Given the description of an element on the screen output the (x, y) to click on. 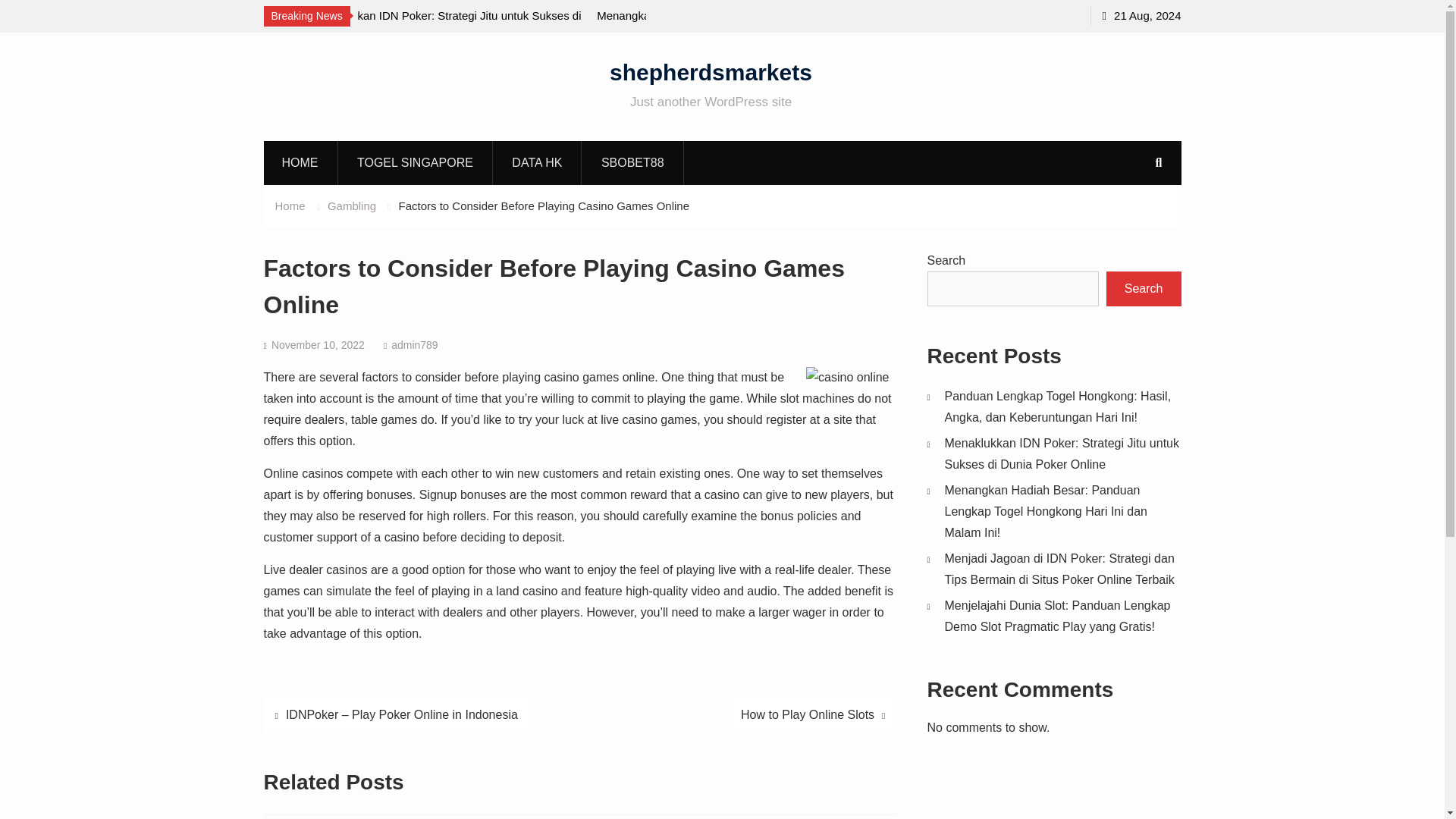
HOME (299, 162)
How to Play Online Slots (812, 714)
November 10, 2022 (317, 345)
shepherdsmarkets (711, 71)
DATA HK (536, 162)
SBOBET88 (633, 162)
Search (1143, 288)
